Given the description of an element on the screen output the (x, y) to click on. 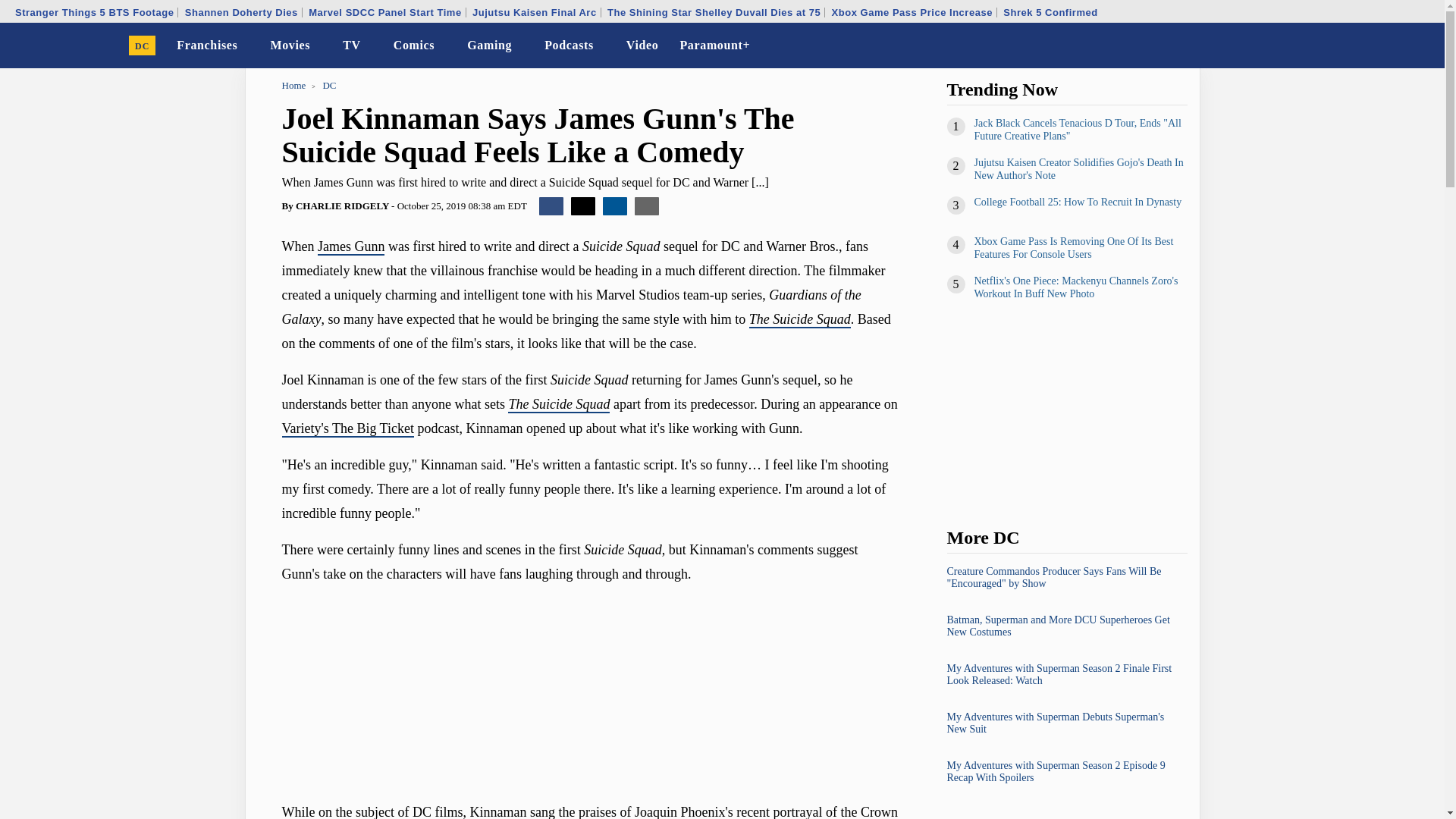
3rd party ad content (590, 641)
Xbox Game Pass Price Increase (911, 12)
Search (1422, 46)
Shannen Doherty Dies (240, 12)
Marvel SDCC Panel Start Time (384, 12)
Stranger Things 5 BTS Footage (94, 12)
Movies (289, 45)
Shrek 5 Confirmed (1049, 12)
The Shining Star Shelley Duvall Dies at 75 (714, 12)
Comics (414, 45)
Jujutsu Kaisen Final Arc (533, 12)
DC (142, 45)
Dark Mode (1394, 45)
